Given the description of an element on the screen output the (x, y) to click on. 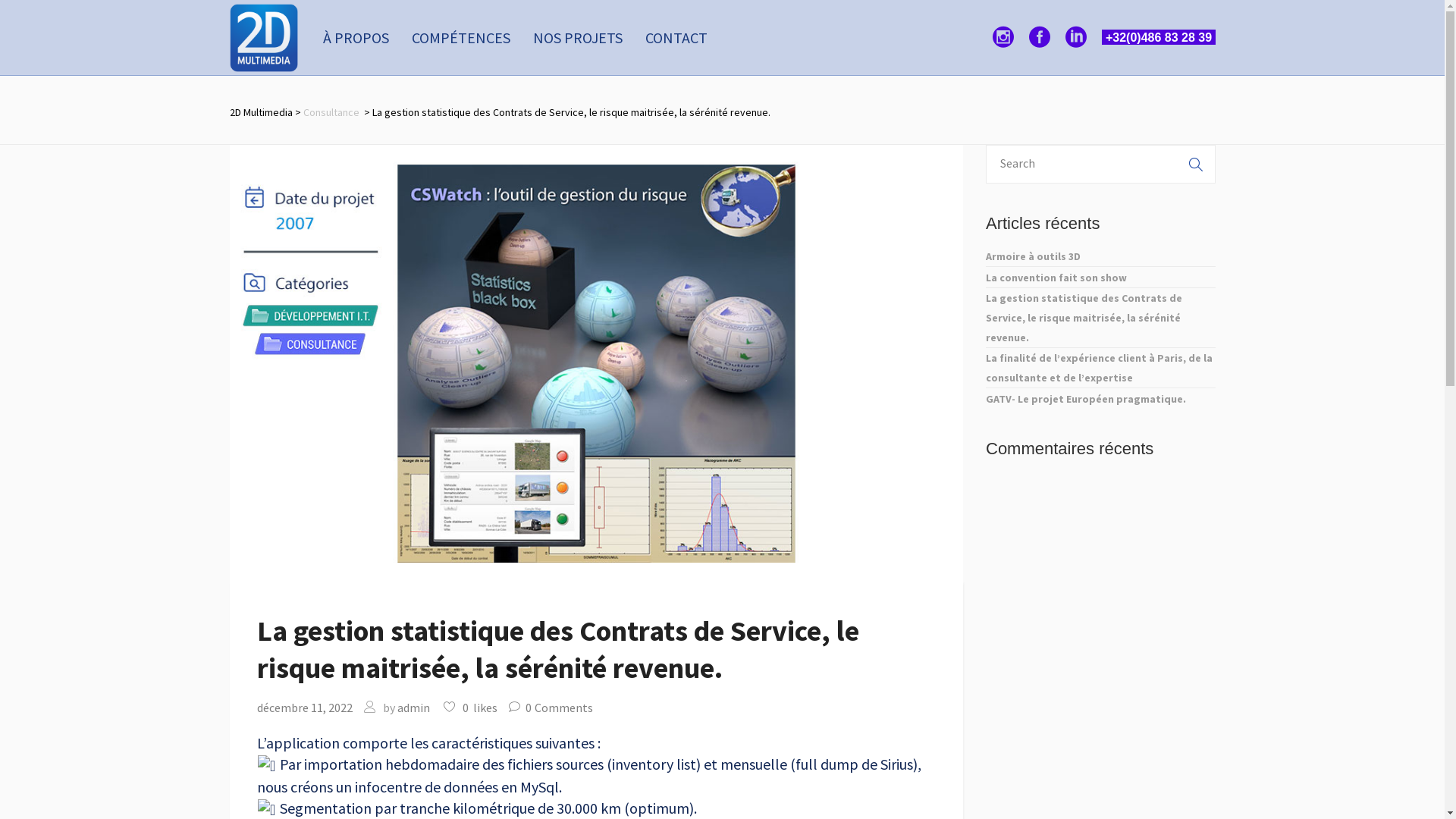
0 Comments Element type: text (550, 707)
2D Multimedia Element type: text (260, 112)
0likes Element type: text (469, 707)
Consultance Element type: text (331, 112)
CONTACT Element type: text (675, 37)
La convention fait son show Element type: text (1055, 277)
NOS PROJETS Element type: text (577, 37)
 +32(0)486 83 28 39  Element type: text (1157, 36)
admin Element type: text (413, 707)
